Given the description of an element on the screen output the (x, y) to click on. 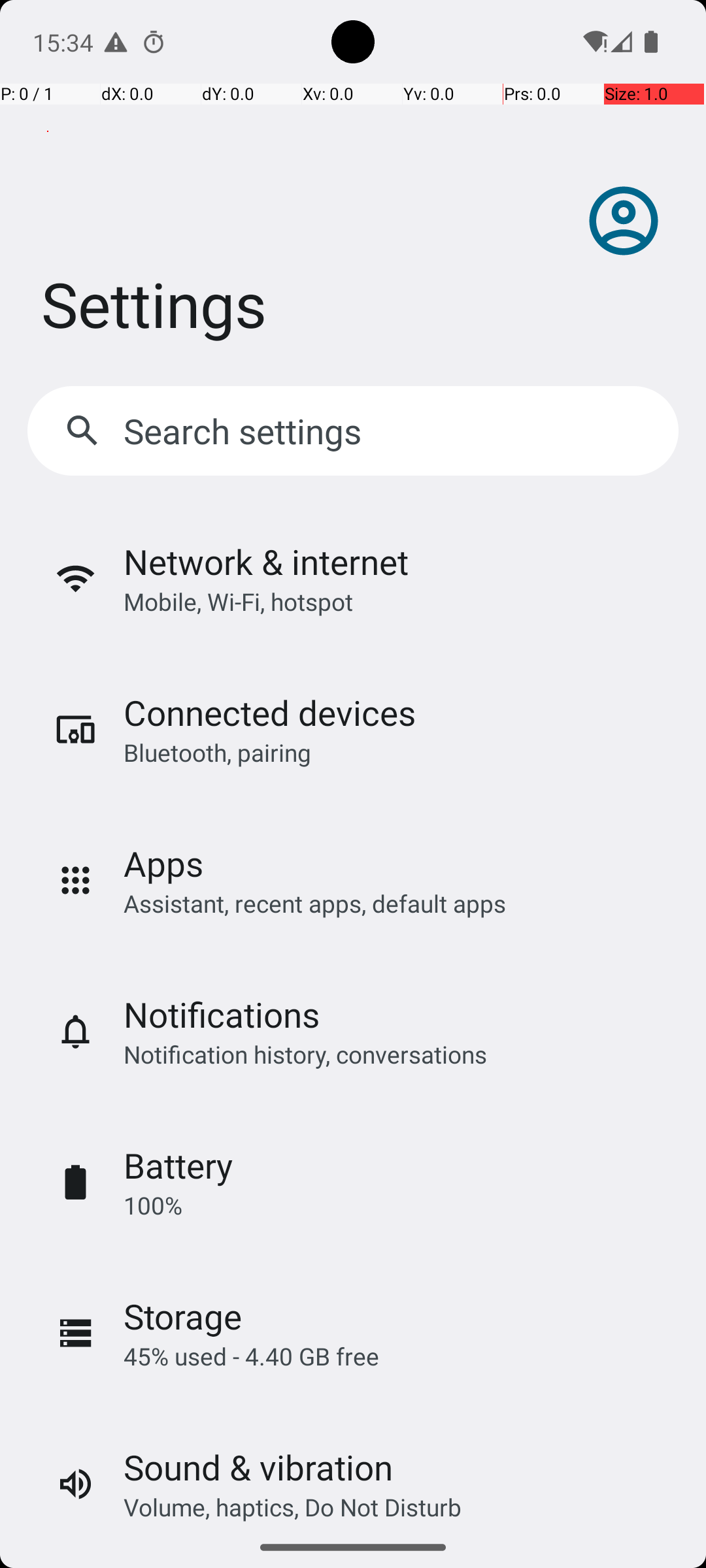
45% used - 4.40 GB free Element type: android.widget.TextView (251, 1355)
Android System notification:  Element type: android.widget.ImageView (115, 41)
